Given the description of an element on the screen output the (x, y) to click on. 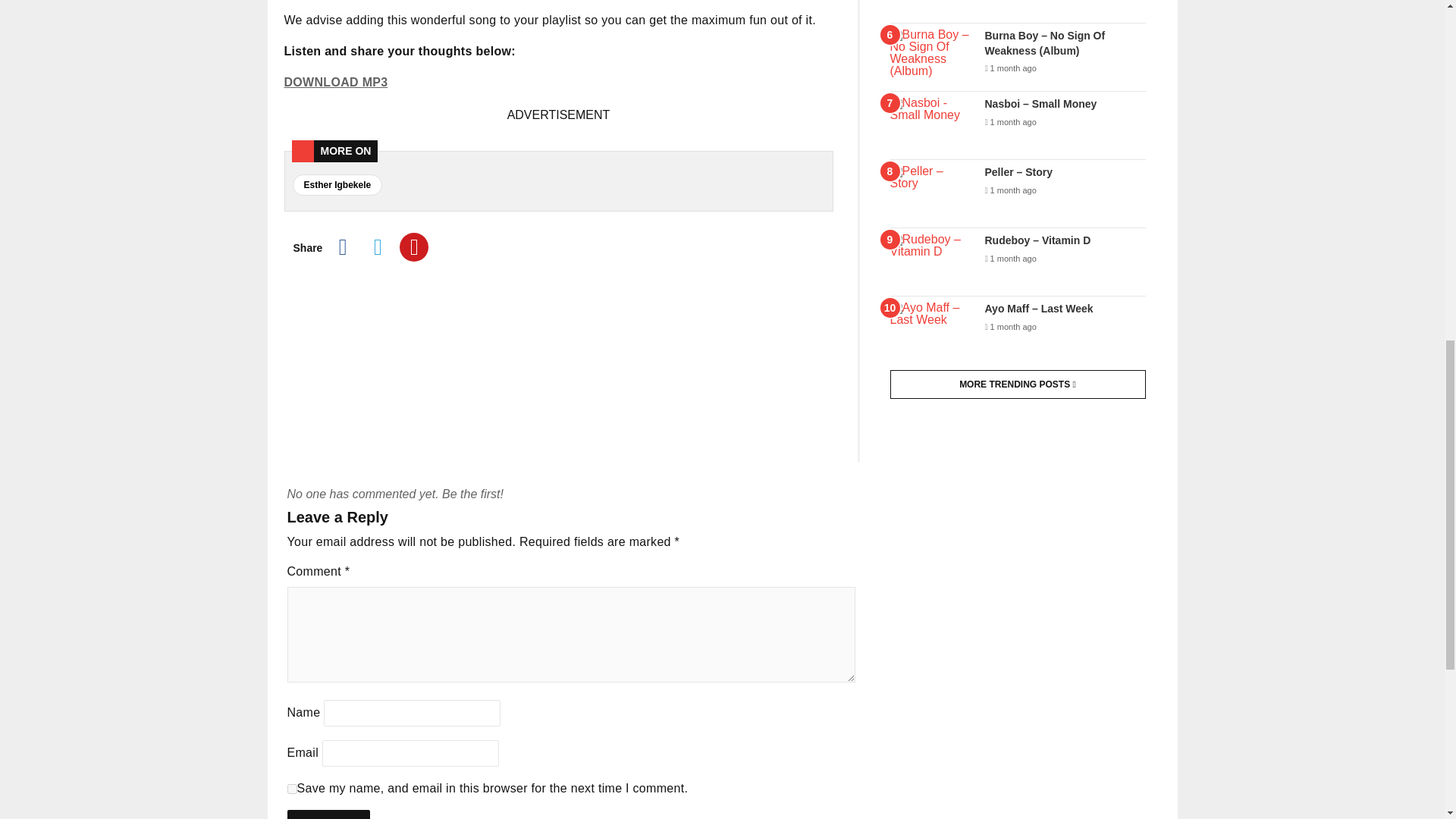
Esther Igbekele (337, 184)
DOWNLOAD MP3 (335, 82)
Post Comment (327, 814)
yes (291, 788)
